Given the description of an element on the screen output the (x, y) to click on. 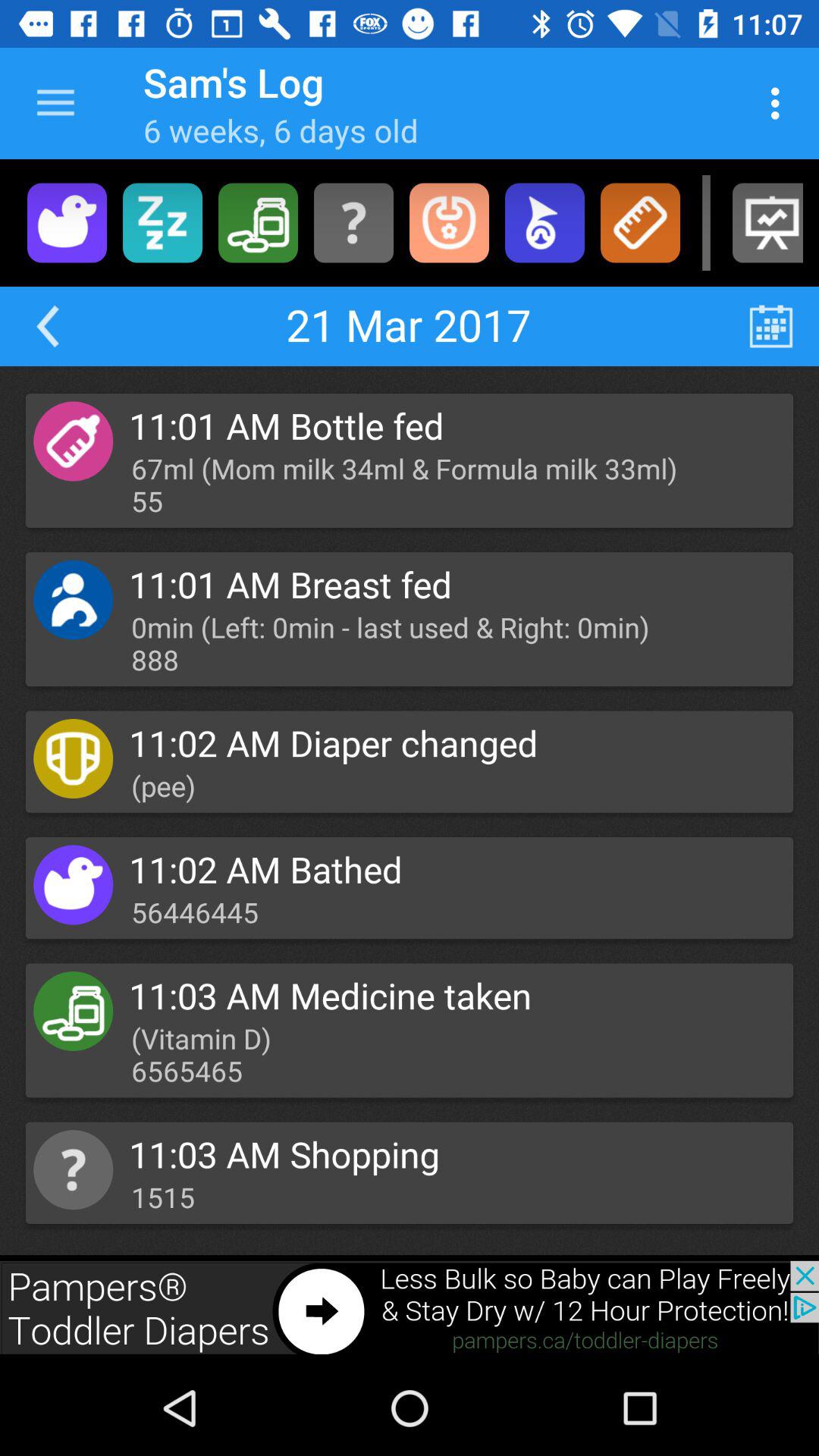
calendar (771, 326)
